Given the description of an element on the screen output the (x, y) to click on. 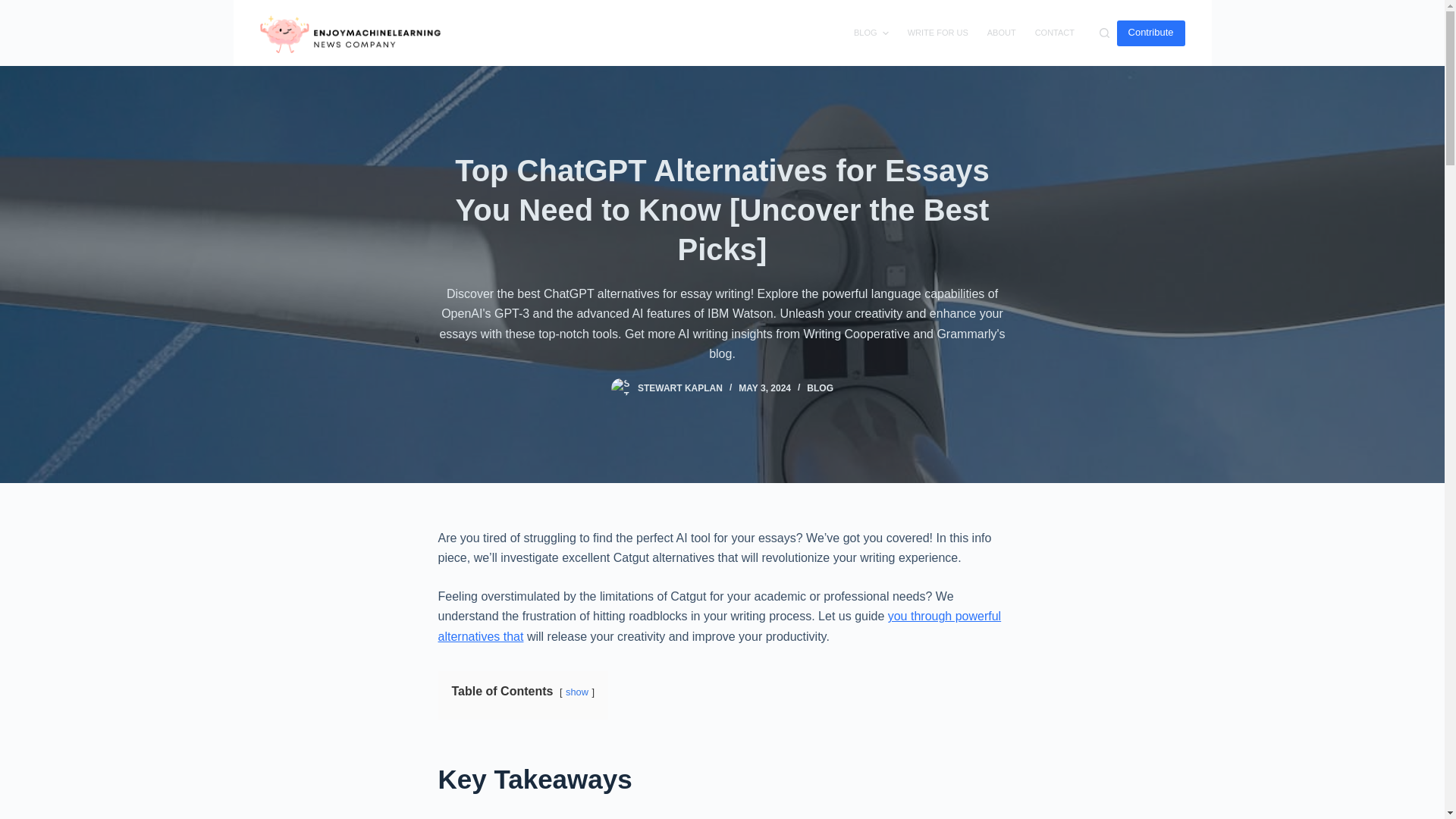
STEWART KAPLAN (679, 388)
Contribute (1150, 32)
you through powerful alternatives that (719, 625)
BLOG (819, 388)
Skip to content (15, 7)
show (577, 691)
WRITE FOR US (937, 33)
Posts by Stewart Kaplan (679, 388)
